Given the description of an element on the screen output the (x, y) to click on. 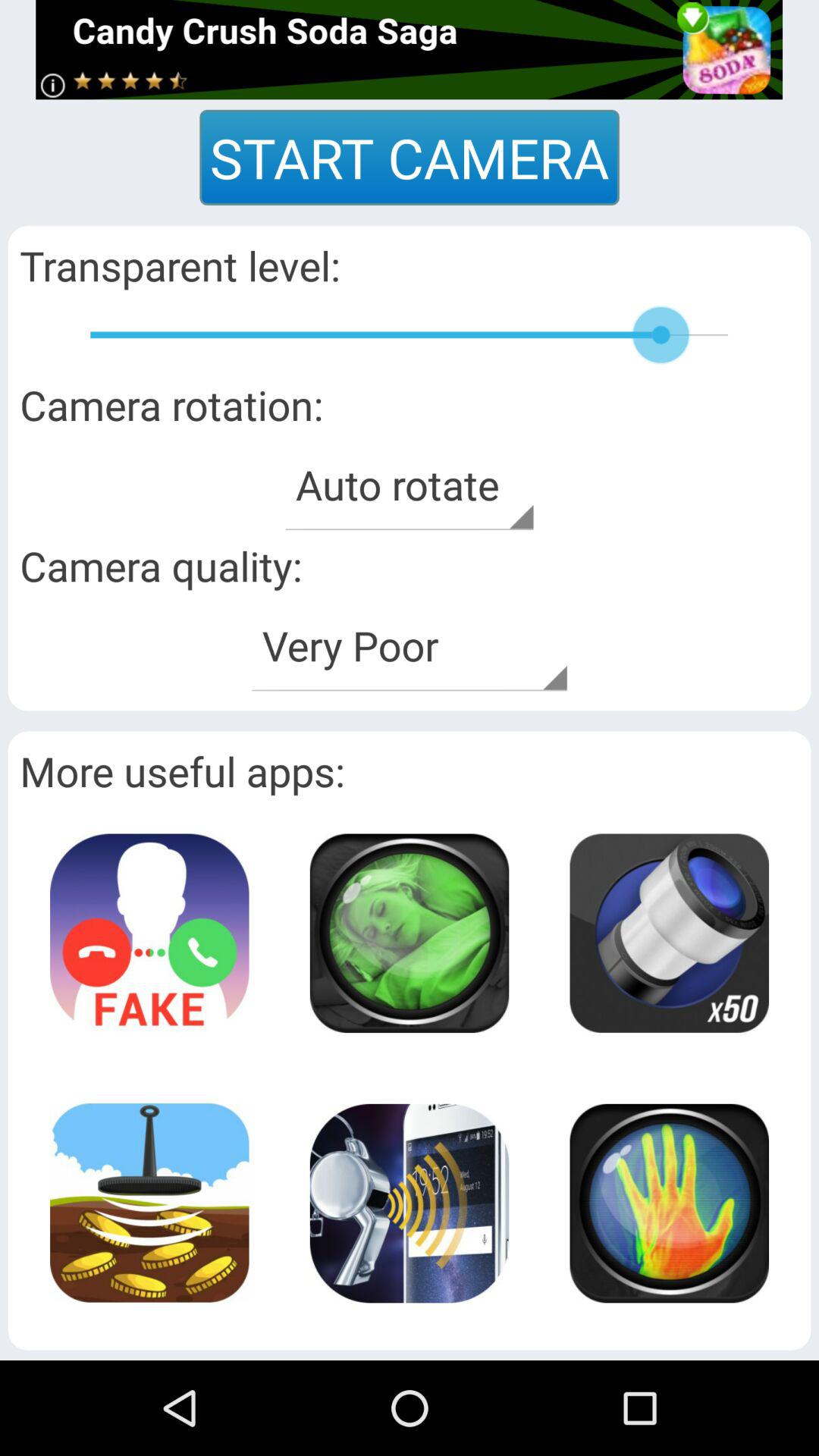
speaker option (408, 1202)
